Given the description of an element on the screen output the (x, y) to click on. 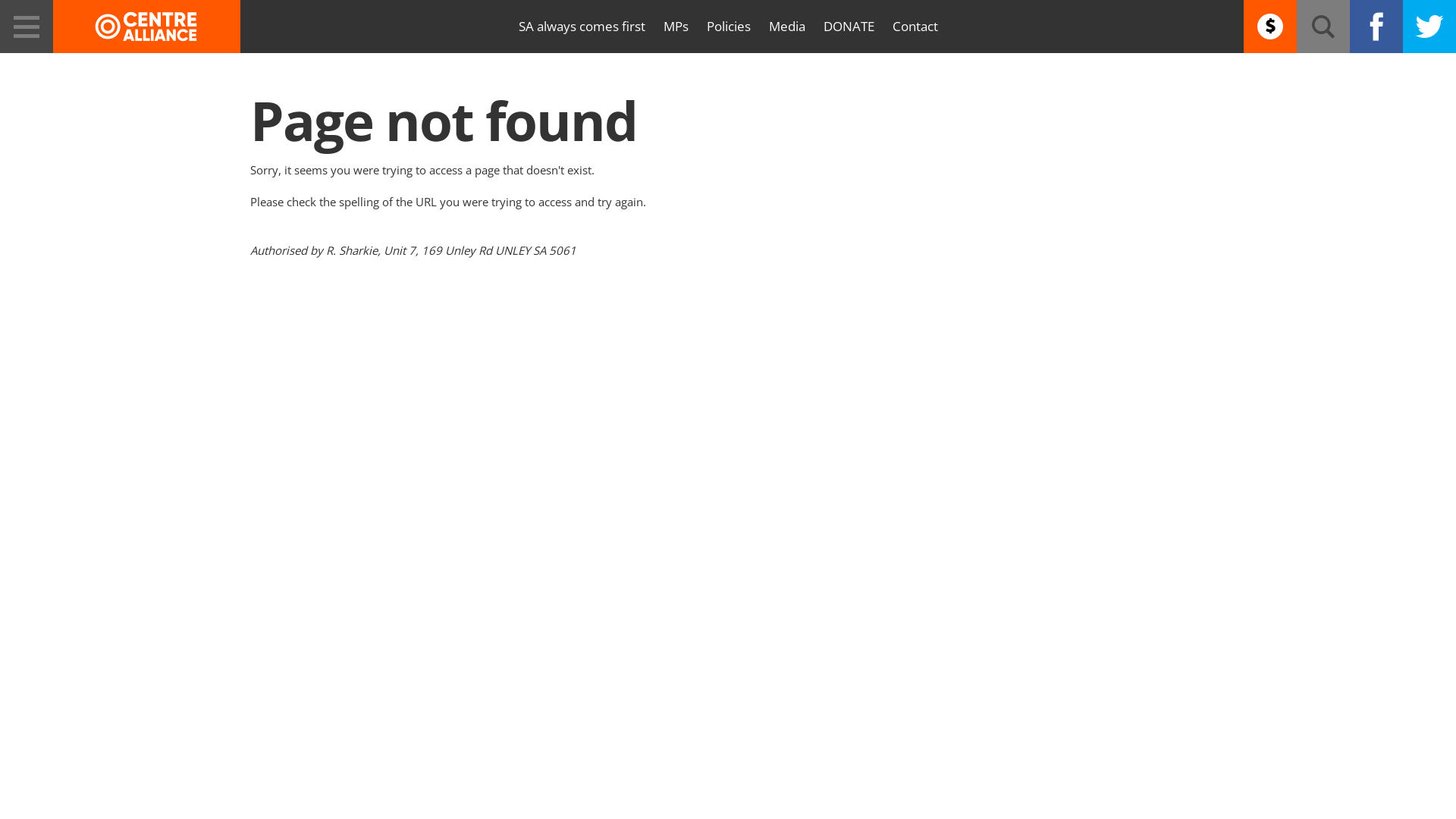
MPs Element type: text (675, 26)
Go to the Donate page Element type: hover (1269, 26)
DONATE Element type: text (848, 26)
Policies Element type: text (728, 26)
Contact Element type: text (914, 26)
Media Element type: text (786, 26)
SA always comes first Element type: text (581, 26)
